Given the description of an element on the screen output the (x, y) to click on. 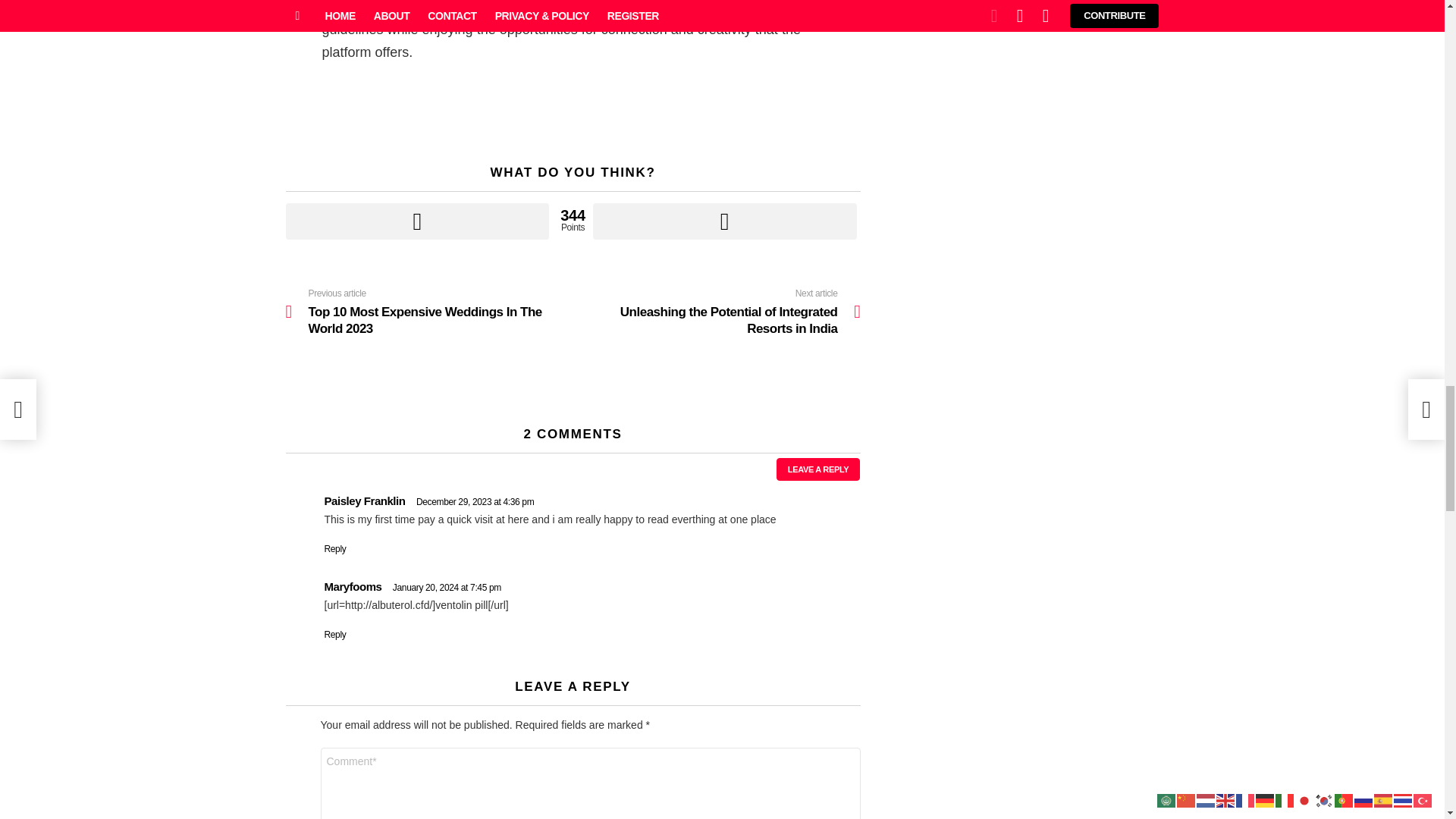
Downvote (724, 221)
Upvote (416, 221)
